Given the description of an element on the screen output the (x, y) to click on. 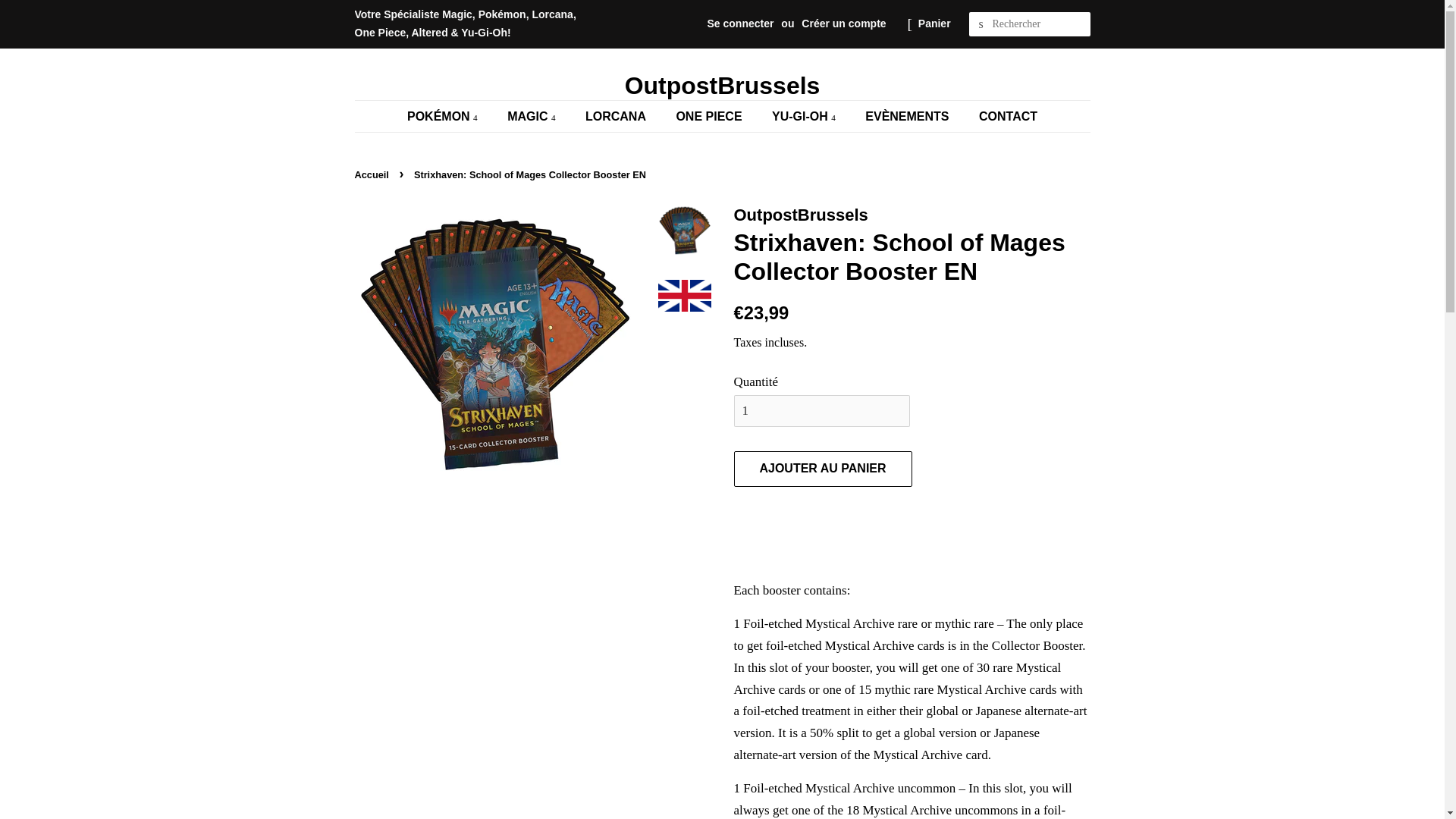
1 (821, 410)
RECHERCHE (980, 24)
MAGIC (533, 115)
OutpostBrussels (722, 85)
Panier (934, 24)
Se connecter (740, 23)
